Given the description of an element on the screen output the (x, y) to click on. 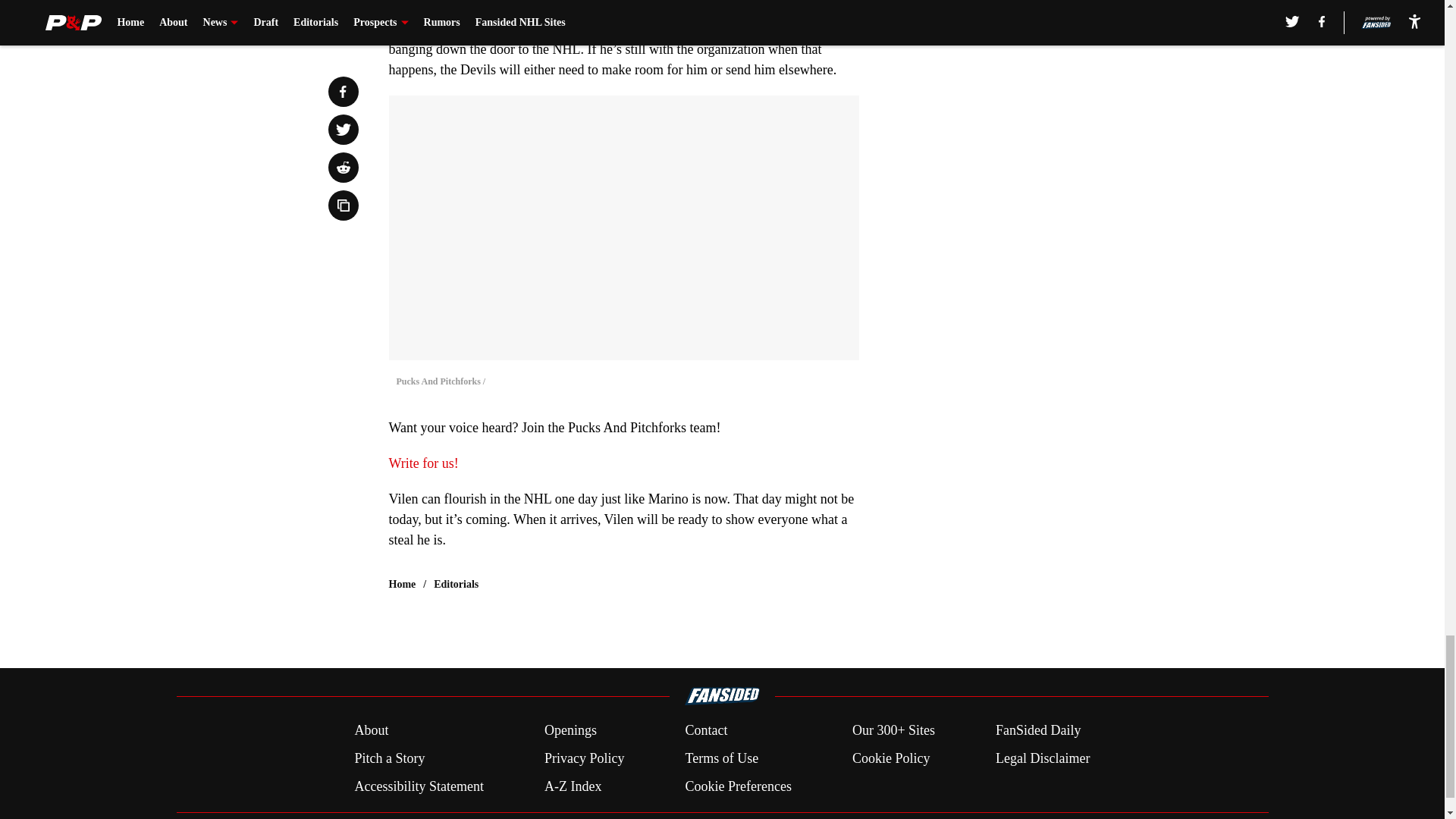
Pitch a Story (389, 758)
Home (401, 584)
Legal Disclaimer (1042, 758)
Write for us! (423, 462)
Cookie Policy (890, 758)
Contact (705, 730)
FanSided Daily (1038, 730)
Terms of Use (721, 758)
Editorials (456, 584)
Openings (570, 730)
